Given the description of an element on the screen output the (x, y) to click on. 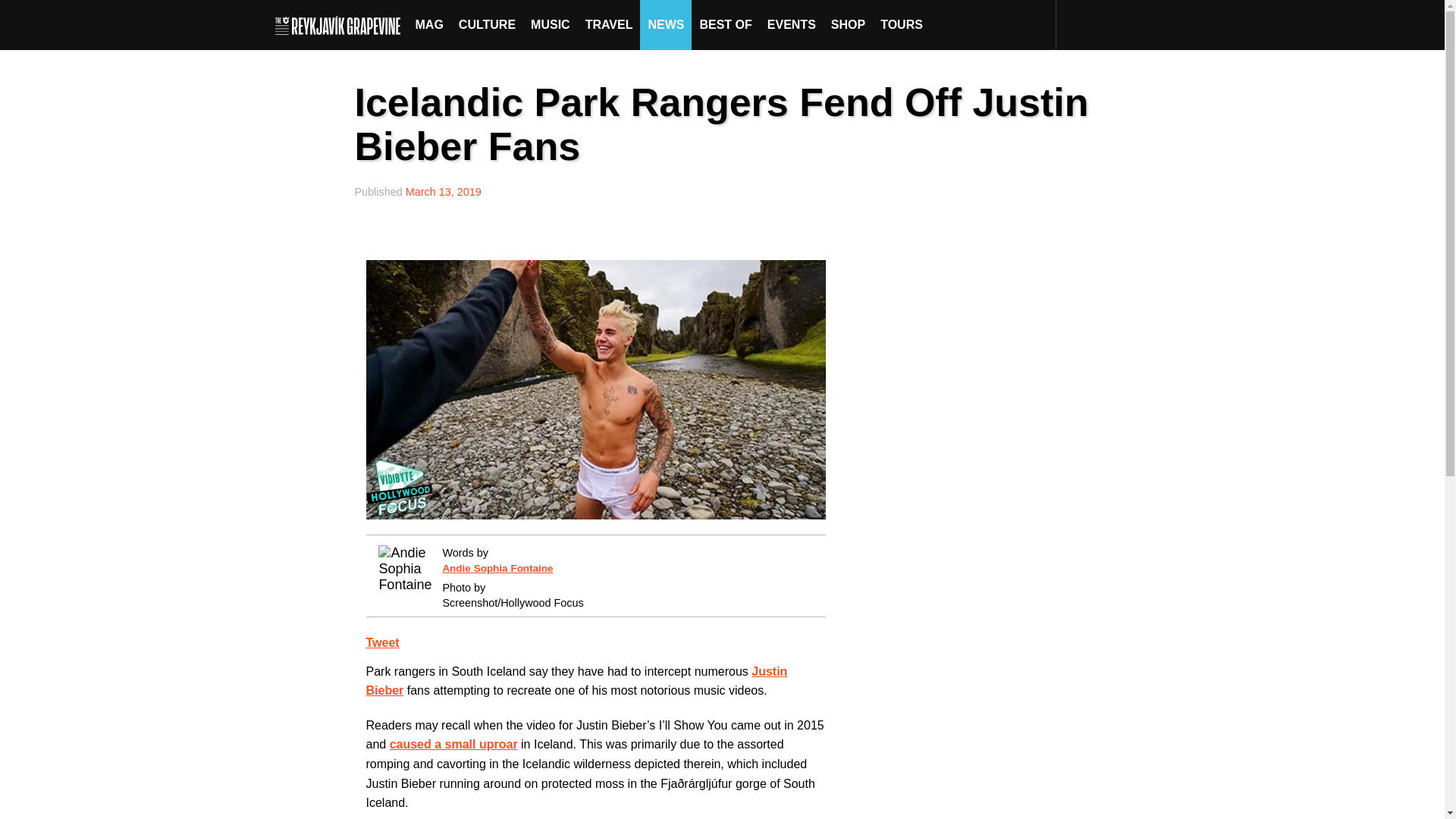
CULTURE (486, 24)
NEWS (665, 24)
EVENTS (792, 24)
Justin Bieber (576, 681)
SHOP (848, 24)
The Reykjavik Grapevine (341, 24)
BEST OF (724, 24)
TOURS (901, 24)
caused a small uproar (454, 744)
Tweet (381, 642)
Posts by Andie Sophia Fontaine (497, 568)
TRAVEL (609, 24)
MUSIC (550, 24)
Andie Sophia Fontaine (497, 568)
